Given the description of an element on the screen output the (x, y) to click on. 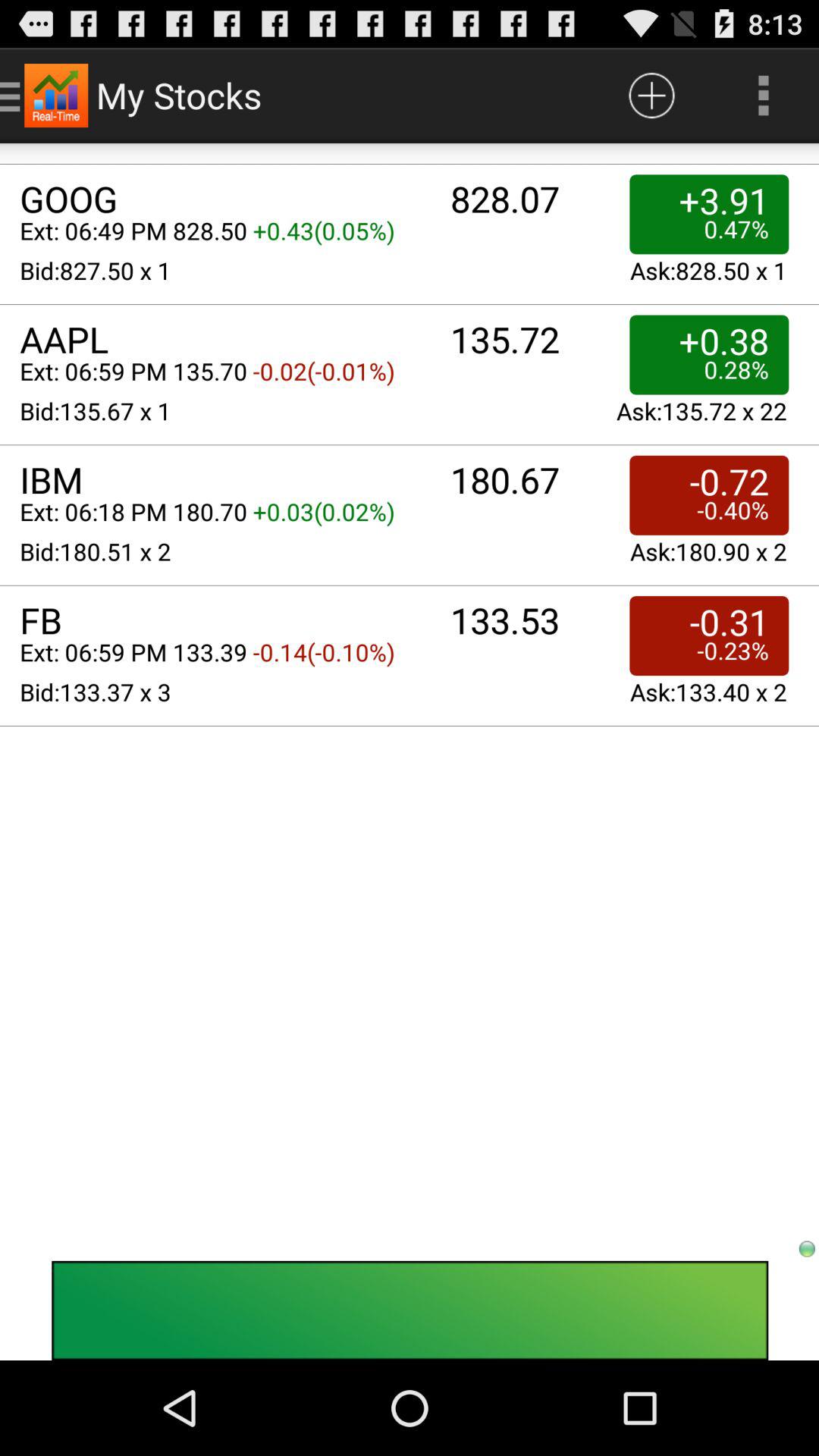
turn off the item at the bottom (409, 1310)
